Given the description of an element on the screen output the (x, y) to click on. 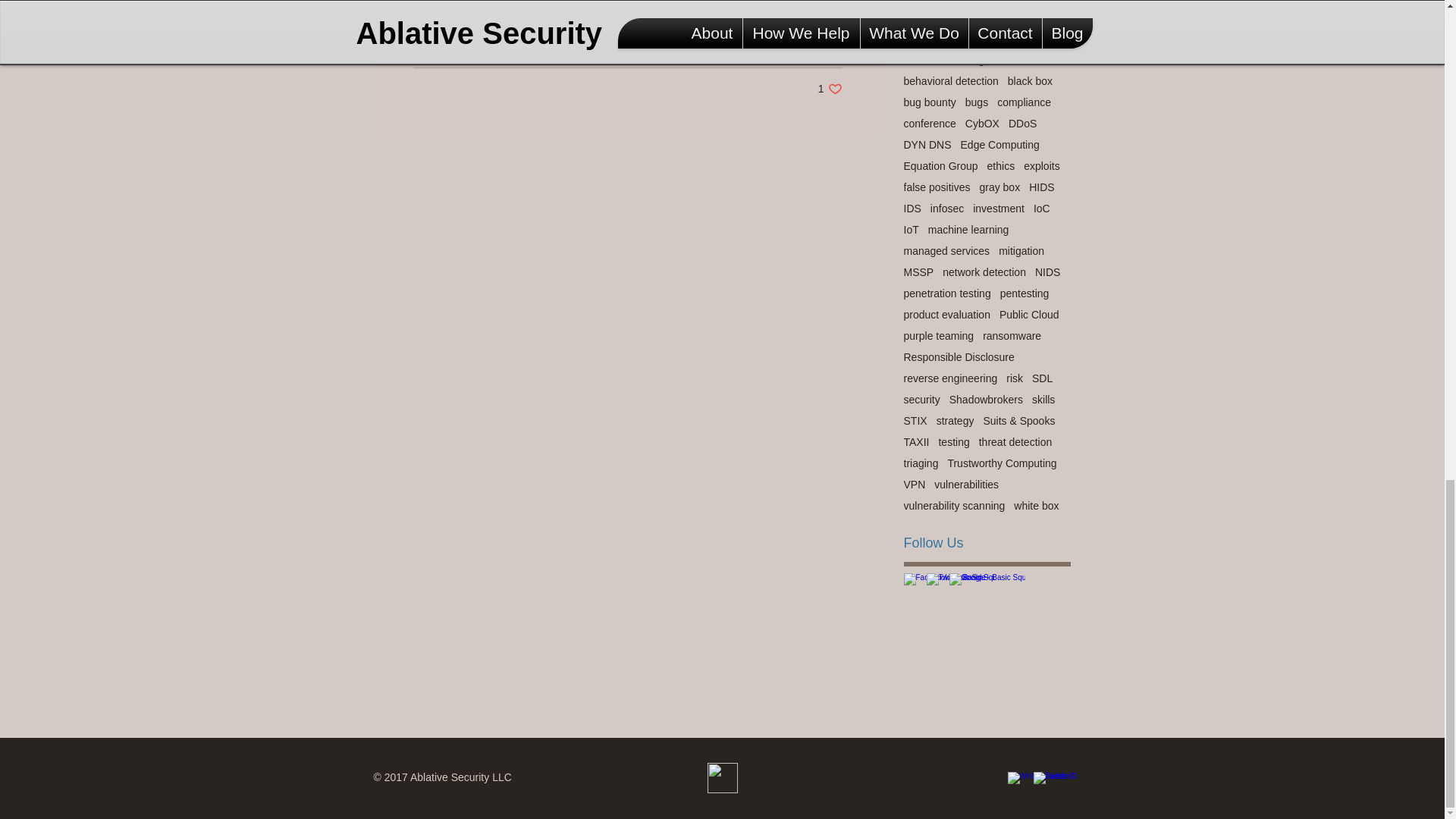
Conferences (811, 43)
0-days (920, 0)
